Given the description of an element on the screen output the (x, y) to click on. 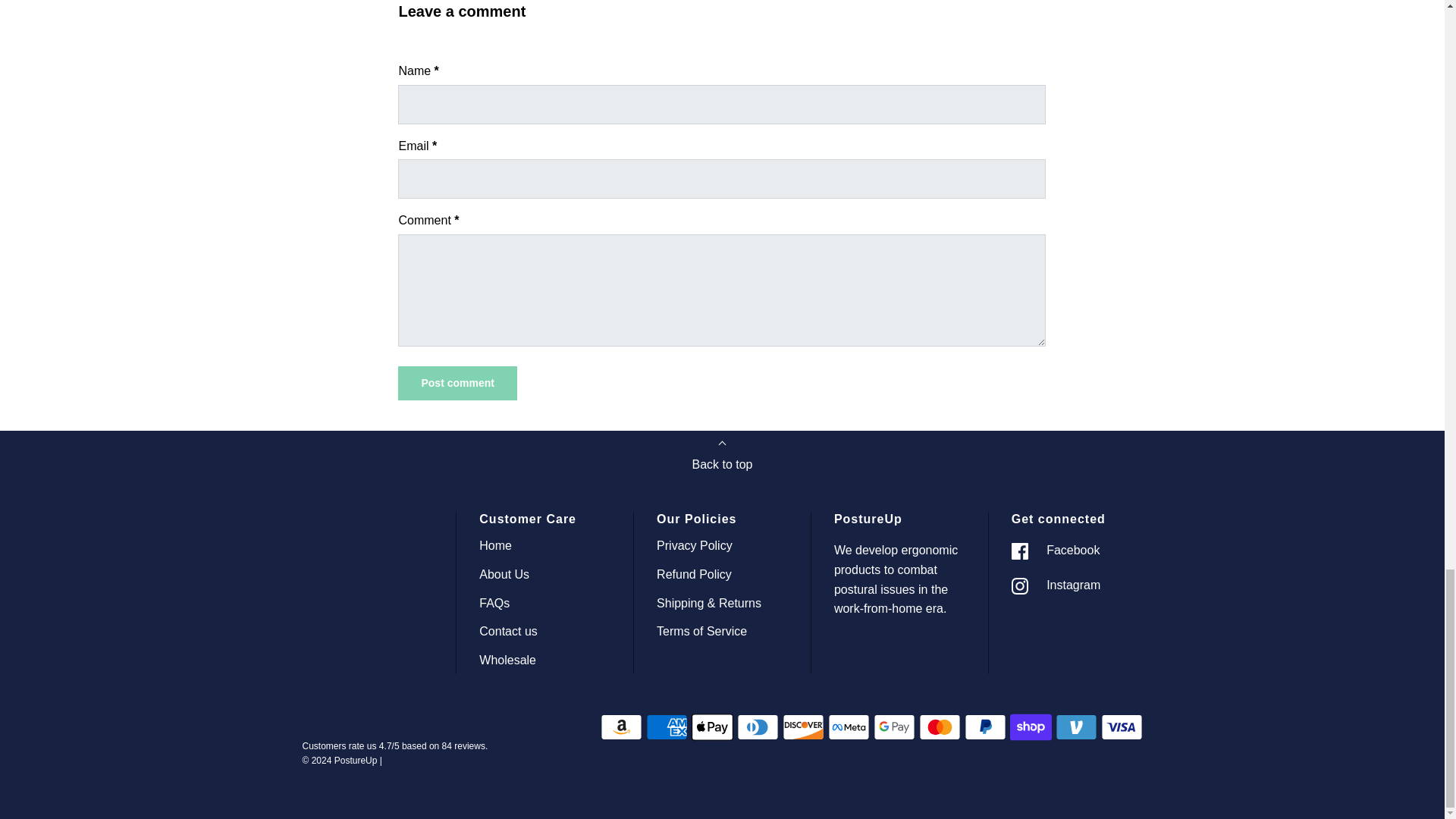
Facebook icon (1019, 550)
Apple Pay (712, 726)
PayPal (984, 726)
Instagram icon (1019, 586)
Shop Pay (1030, 726)
Post comment (456, 383)
American Express (666, 726)
Google Pay (894, 726)
Venmo (1076, 726)
Visa (1121, 726)
